Given the description of an element on the screen output the (x, y) to click on. 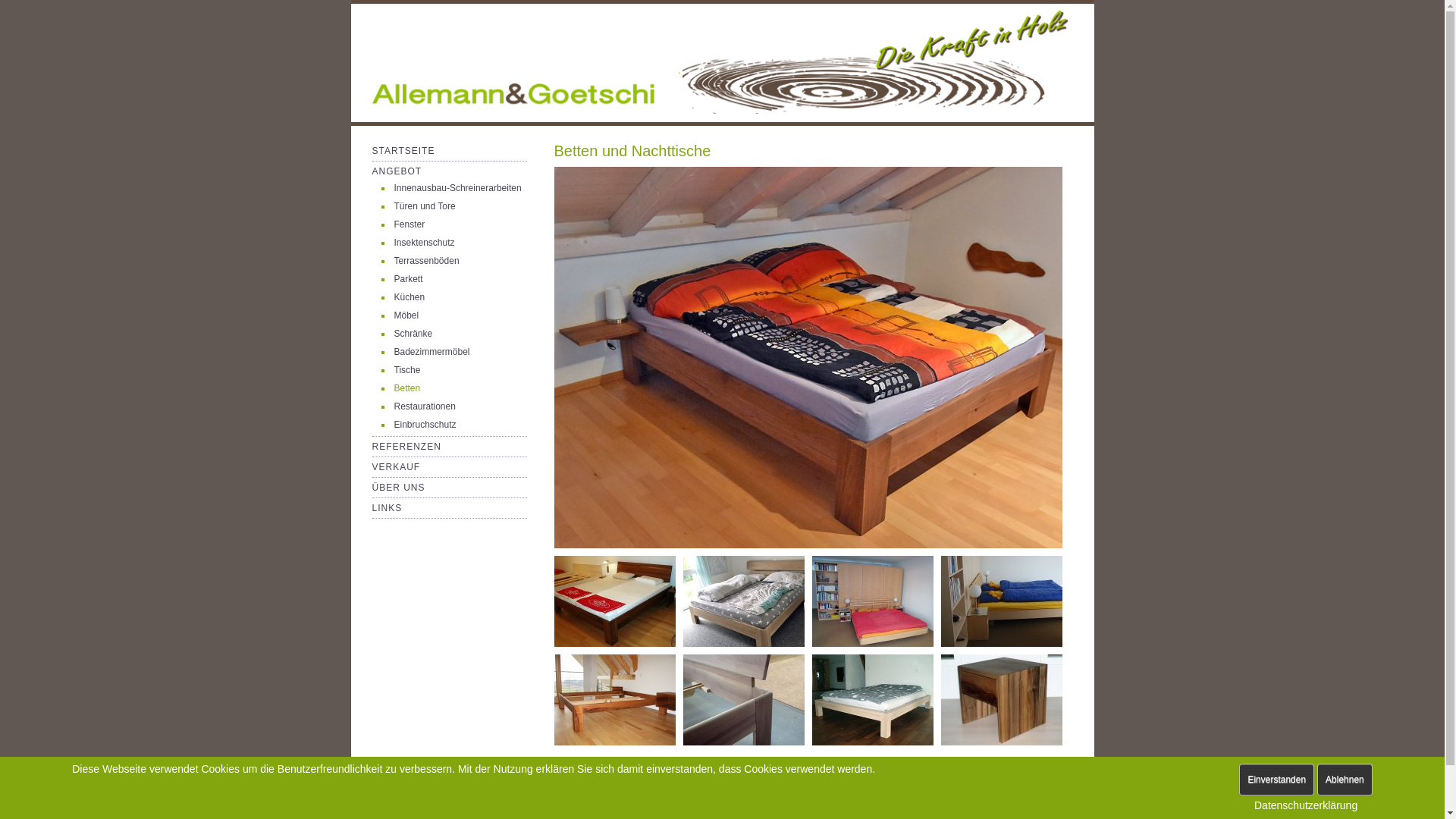
Einbruchschutz Element type: text (425, 424)
LINKS Element type: text (386, 507)
STARTSEITE Element type: text (402, 150)
REFERENZEN Element type: text (405, 446)
Betten Element type: text (407, 387)
VERKAUF Element type: text (395, 466)
ANGEBOT Element type: text (396, 171)
Fenster Element type: text (409, 224)
info@ag-schreinerei.ch Element type: text (721, 804)
Ablehnen Element type: text (1344, 779)
Innenausbau-Schreinerarbeiten Element type: text (457, 187)
Parkett Element type: text (408, 278)
Tische Element type: text (407, 369)
Restaurationen Element type: text (424, 406)
Einverstanden Element type: text (1276, 779)
Insektenschutz Element type: text (424, 242)
